Given the description of an element on the screen output the (x, y) to click on. 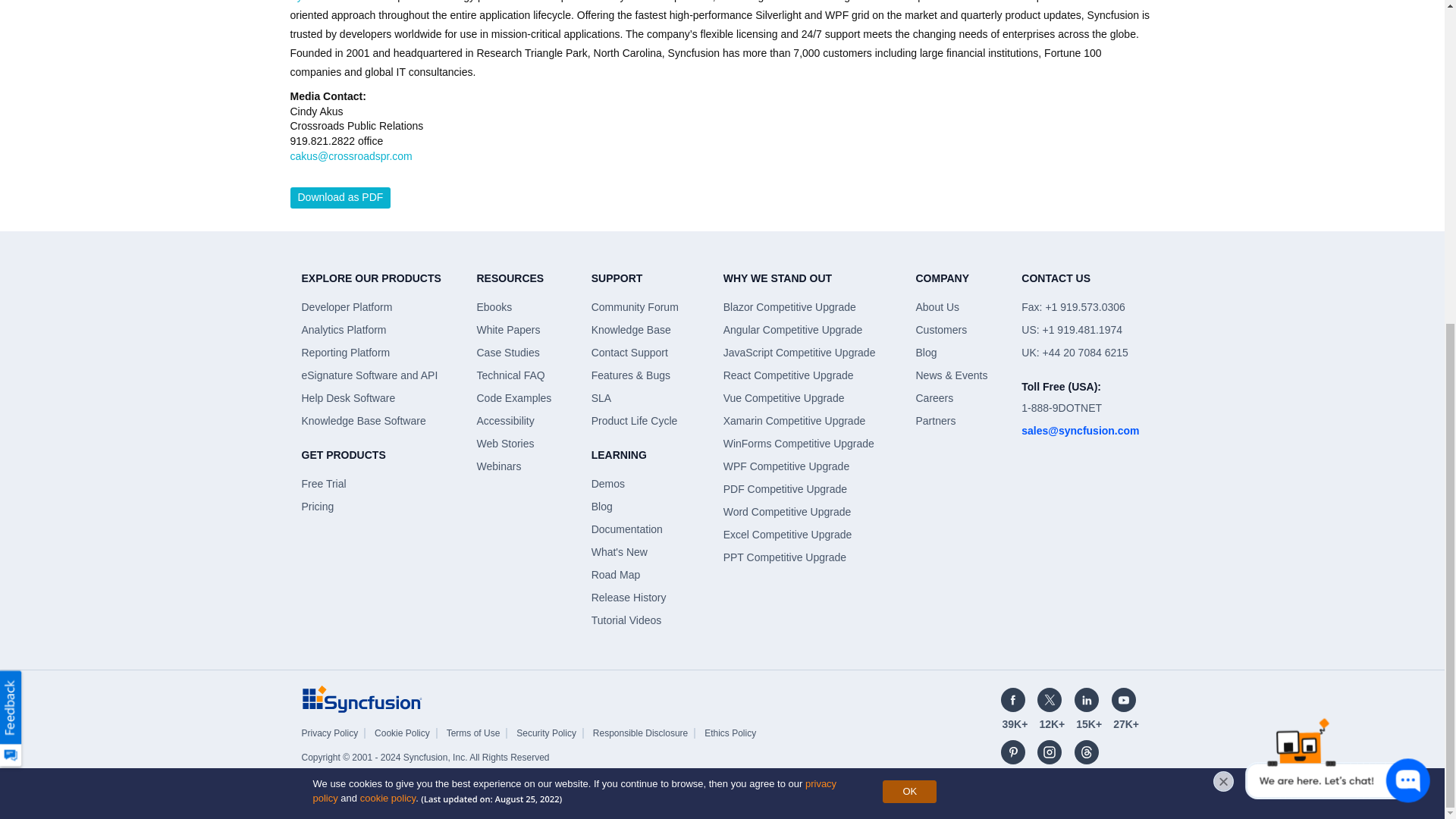
Syncfusion (362, 698)
OK (909, 261)
privacy policy (574, 261)
cookie policy (386, 268)
